Given the description of an element on the screen output the (x, y) to click on. 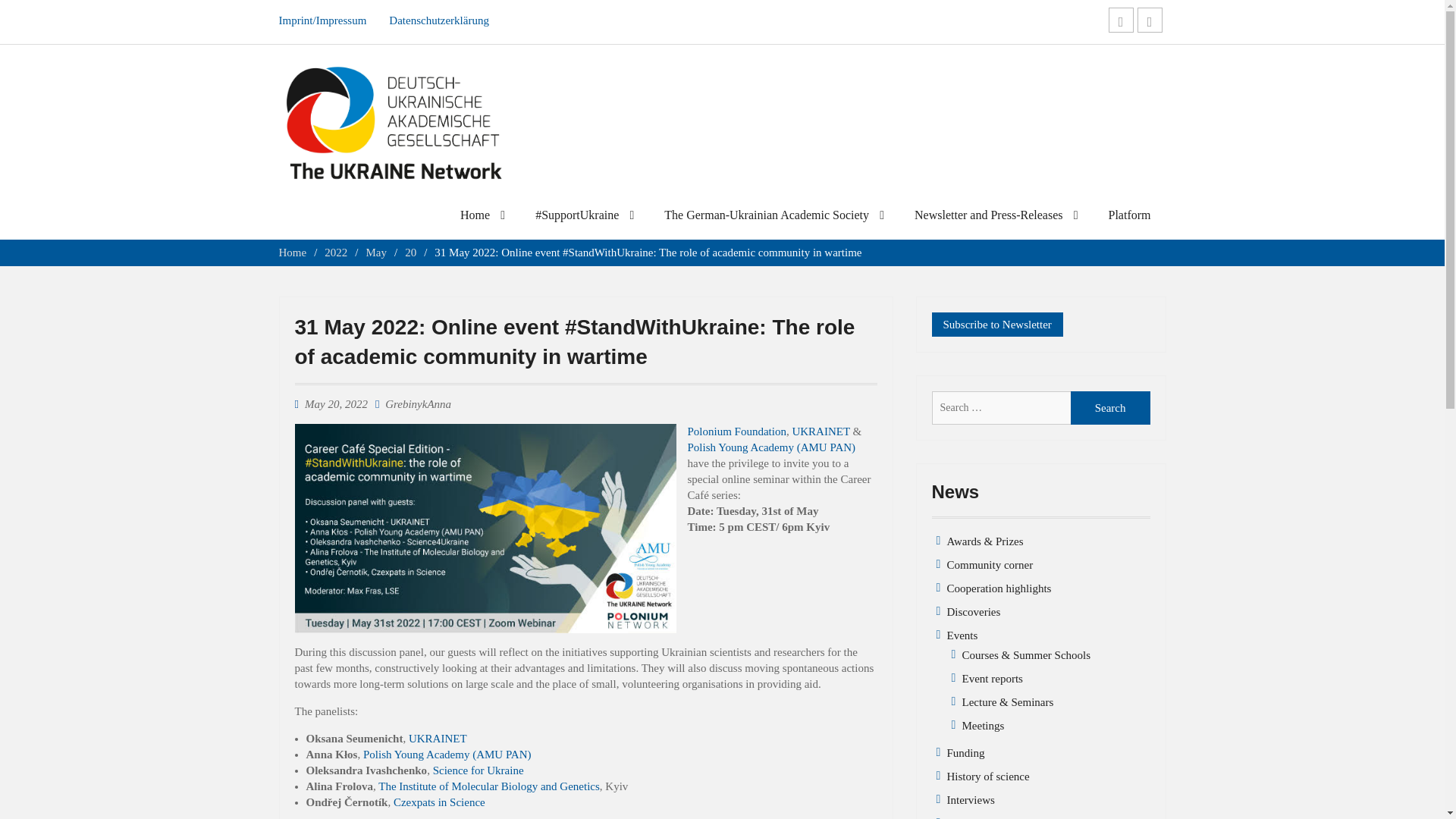
Home (482, 218)
Search (1110, 408)
Subscribe to Newsletter (996, 324)
LinkedIn (1121, 19)
The German-Ukrainian Academic Society (773, 218)
Search (1110, 408)
YouTube (1149, 19)
